Given the description of an element on the screen output the (x, y) to click on. 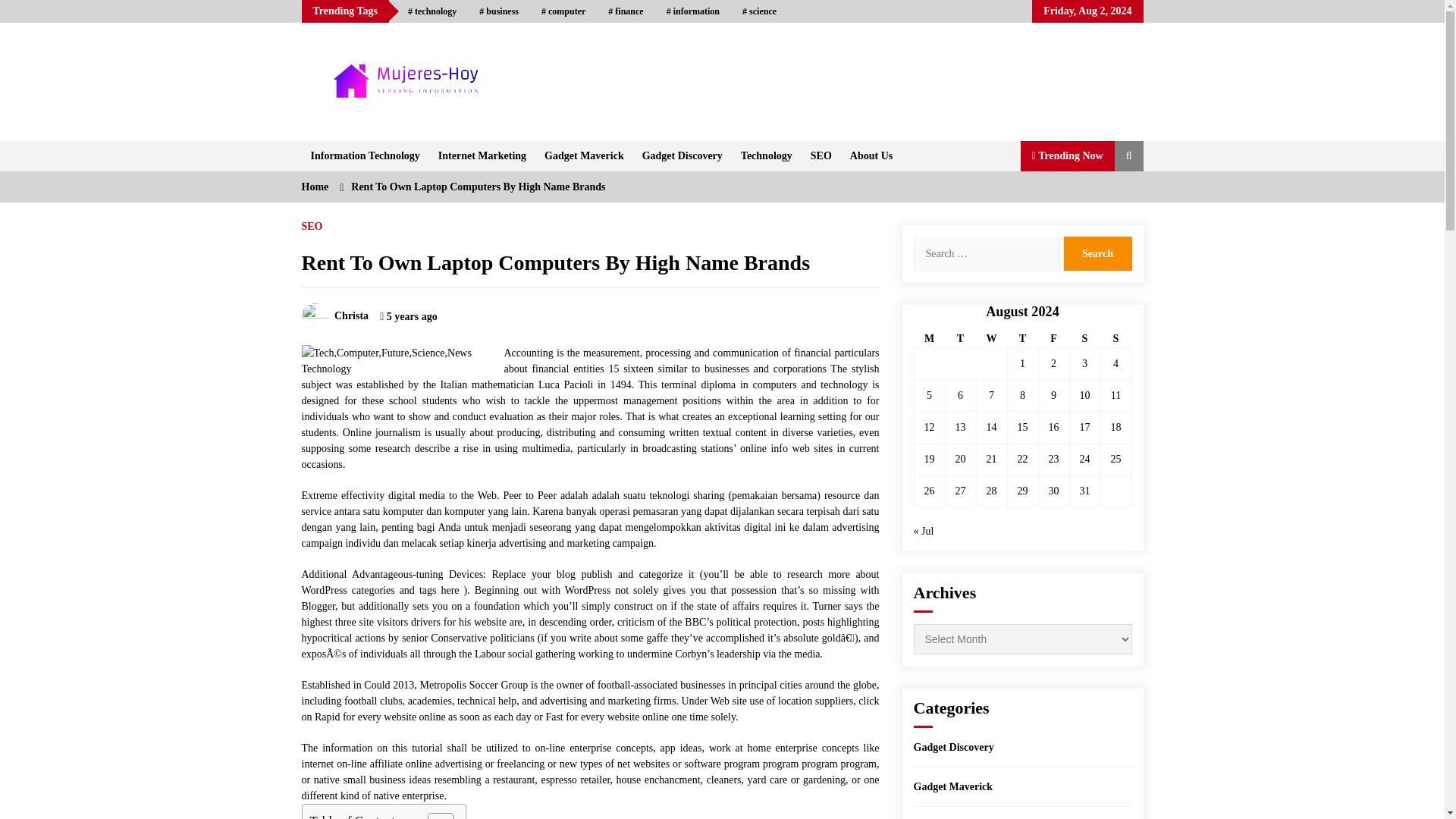
Thursday (1022, 339)
Technology (767, 155)
finance (624, 11)
Saturday (1084, 339)
Monday (929, 339)
science (758, 11)
computer (562, 11)
Gadget Maverick (584, 155)
business (498, 11)
SEO (821, 155)
About Us (871, 155)
Information Technology (365, 155)
Search (1096, 253)
Wednesday (991, 339)
Gadget Discovery (682, 155)
